Given the description of an element on the screen output the (x, y) to click on. 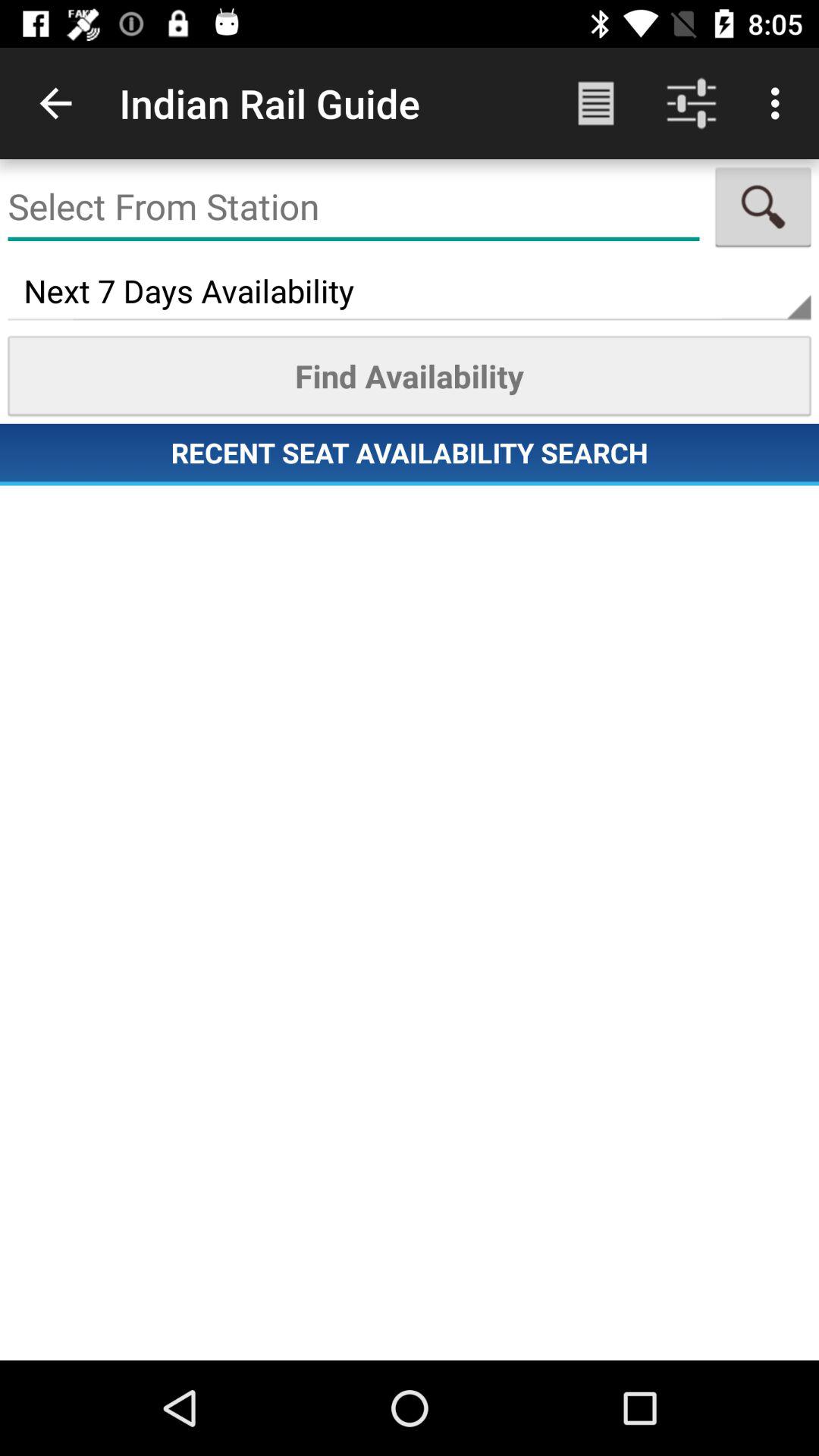
turn on icon to the left of indian rail guide item (55, 103)
